Given the description of an element on the screen output the (x, y) to click on. 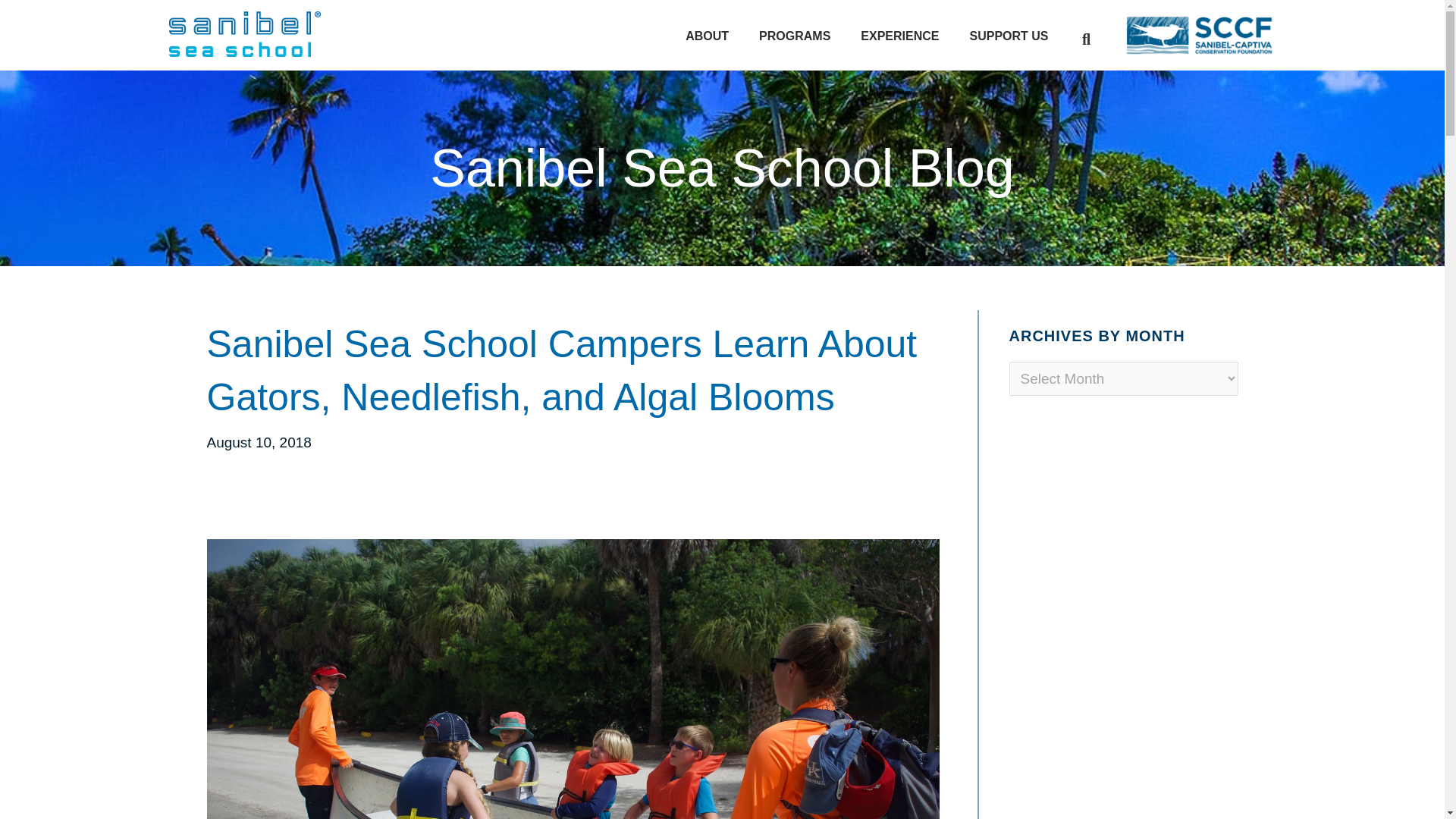
Sanibel Logo (244, 33)
Sccf Logo New (1199, 34)
SUPPORT US (1007, 36)
EXPERIENCE (899, 36)
PROGRAMS (794, 36)
ABOUT (706, 36)
